Given the description of an element on the screen output the (x, y) to click on. 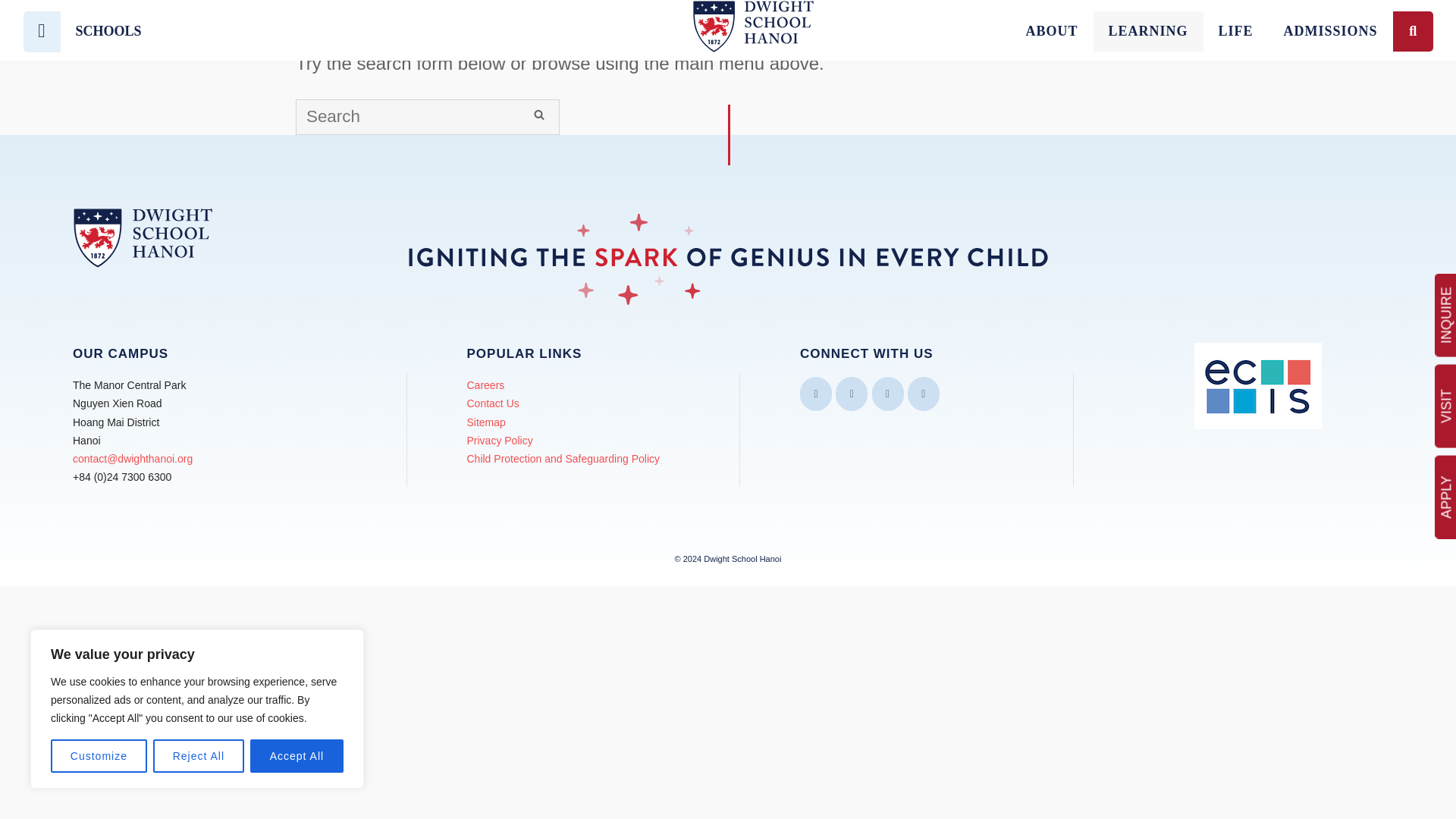
Dwight School Hanoi on Instagram (851, 393)
ADMISSIONS (1330, 31)
Dwight School Hanoi on Linkedin (923, 393)
Dwight School Hanoi on Facebook (815, 393)
LIFE (1236, 31)
Dwight School Hanoi on Youtube (888, 393)
English (42, 31)
